Given the description of an element on the screen output the (x, y) to click on. 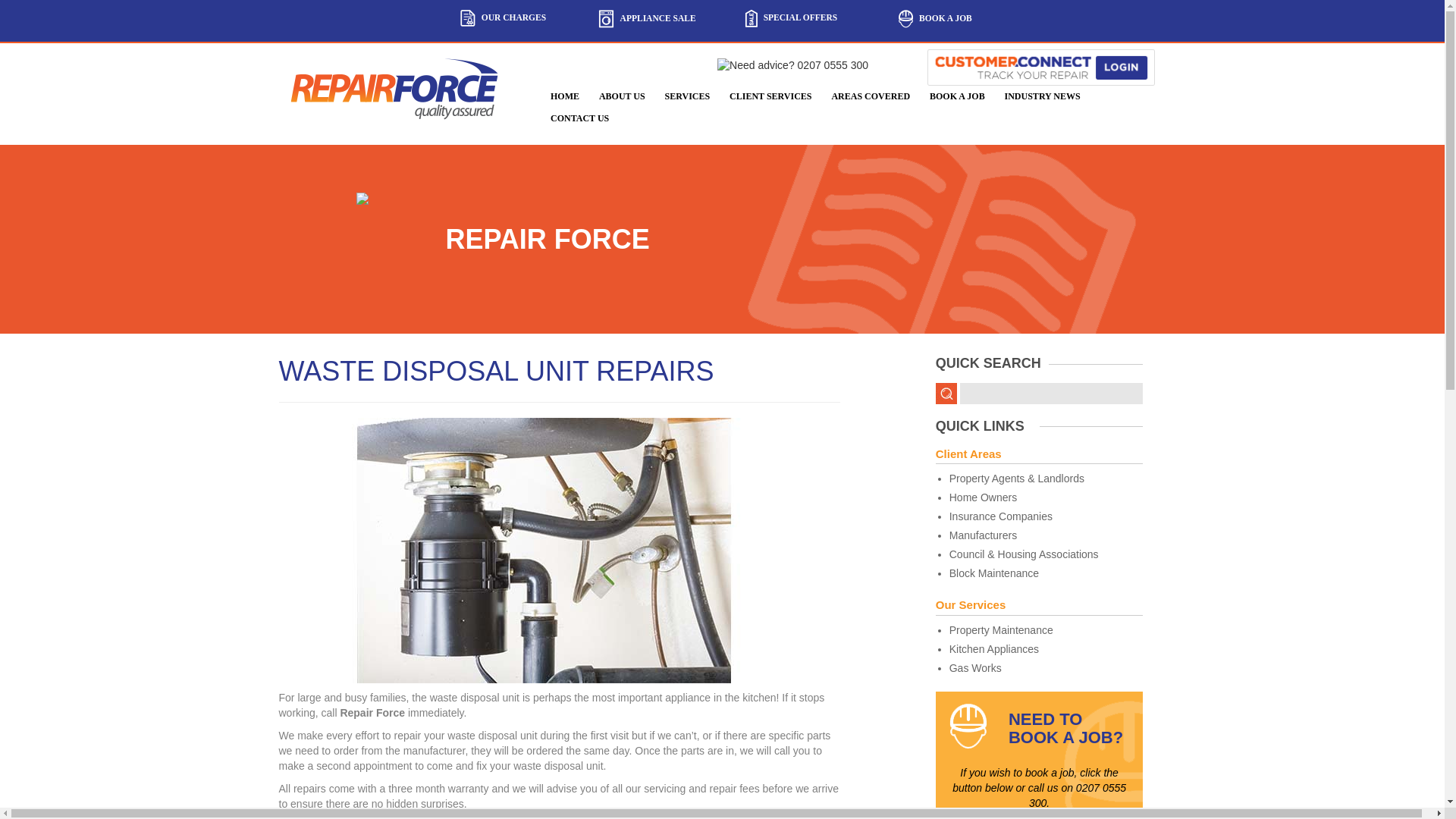
Manufacturers (1045, 535)
Block Maintenance (1045, 573)
SERVICES (687, 95)
OUR CHARGES (504, 17)
Home Owners (1045, 498)
HOME (564, 95)
ABOUT US (621, 95)
Property Maintenance (1045, 630)
APPLIANCE SALE (647, 17)
CONTACT US (579, 118)
